Given the description of an element on the screen output the (x, y) to click on. 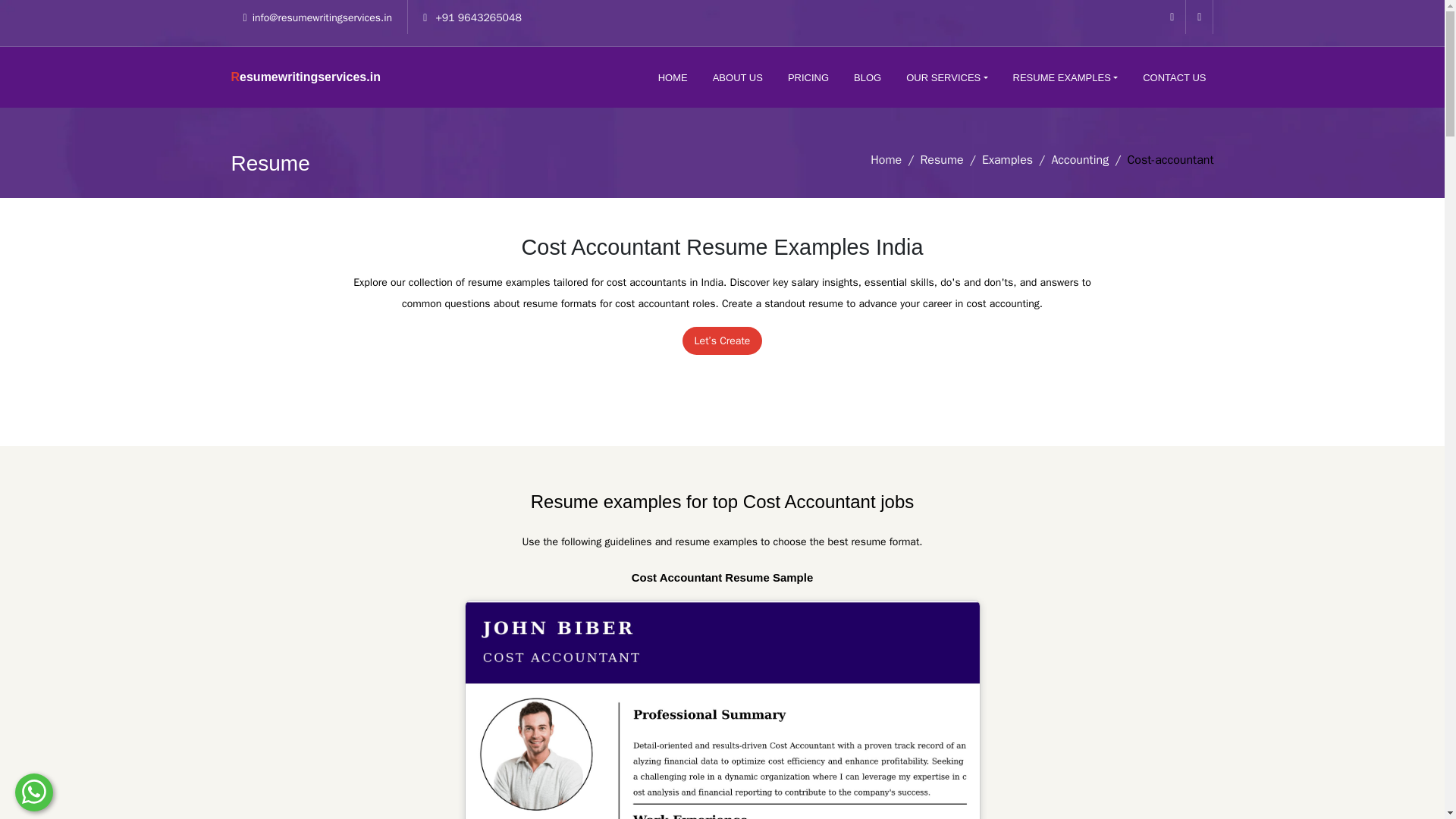
CONTACT US (1173, 77)
Home (885, 159)
Accounting (1079, 159)
Examples (1006, 159)
PRICING (807, 77)
ABOUT US (737, 77)
BLOG (866, 77)
Resume (941, 159)
RESUME EXAMPLES (1065, 77)
OUR SERVICES (946, 77)
HOME (672, 77)
Resumewritingservices.in (305, 76)
